Given the description of an element on the screen output the (x, y) to click on. 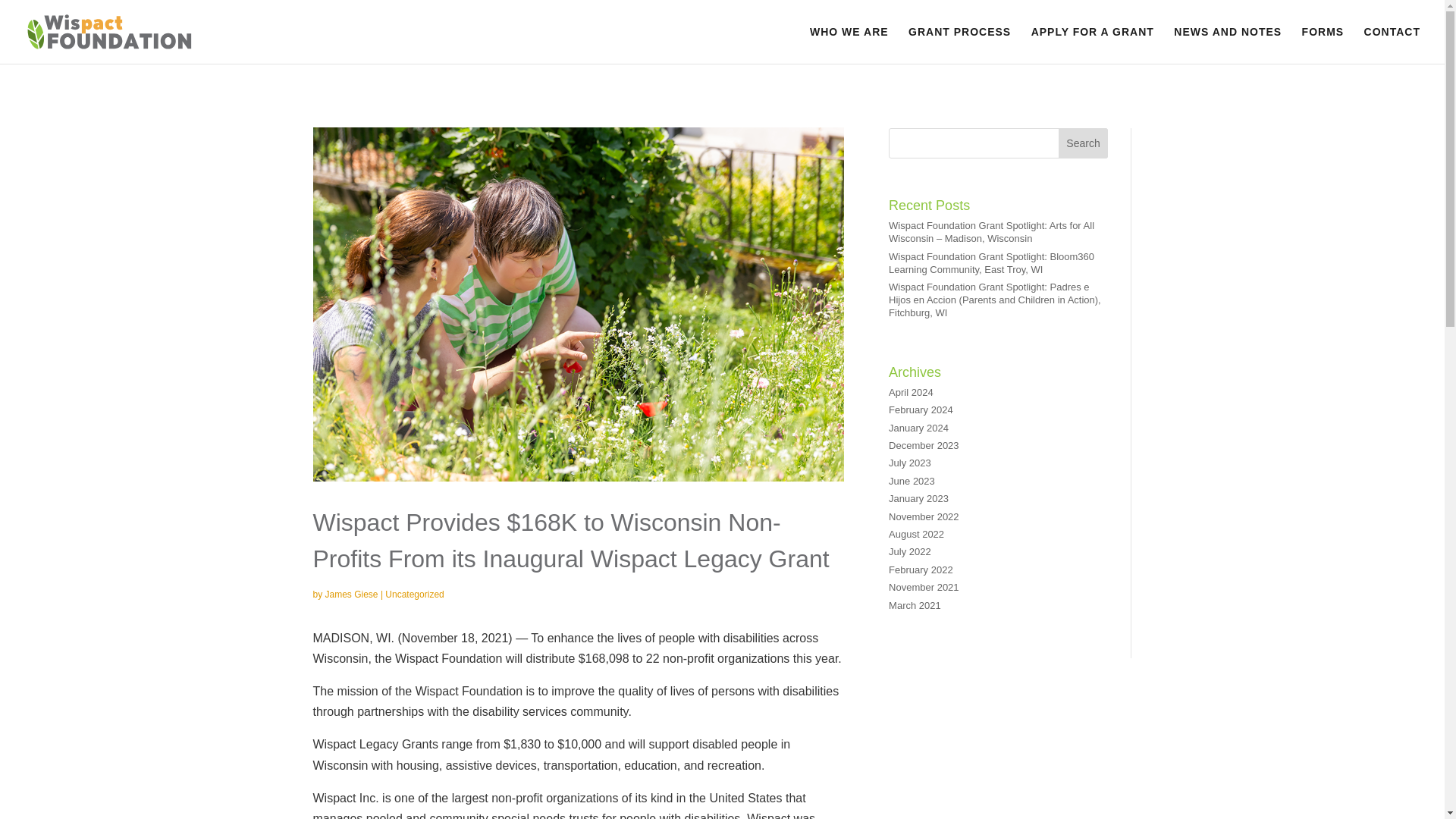
Search (1083, 142)
Uncategorized (414, 593)
December 2023 (923, 445)
November 2021 (923, 586)
FORMS (1322, 44)
November 2022 (923, 516)
March 2021 (914, 604)
Posts by James Giese (351, 593)
CONTACT (1392, 44)
July 2023 (909, 462)
July 2022 (909, 551)
James Giese (351, 593)
Search (1083, 142)
